Given the description of an element on the screen output the (x, y) to click on. 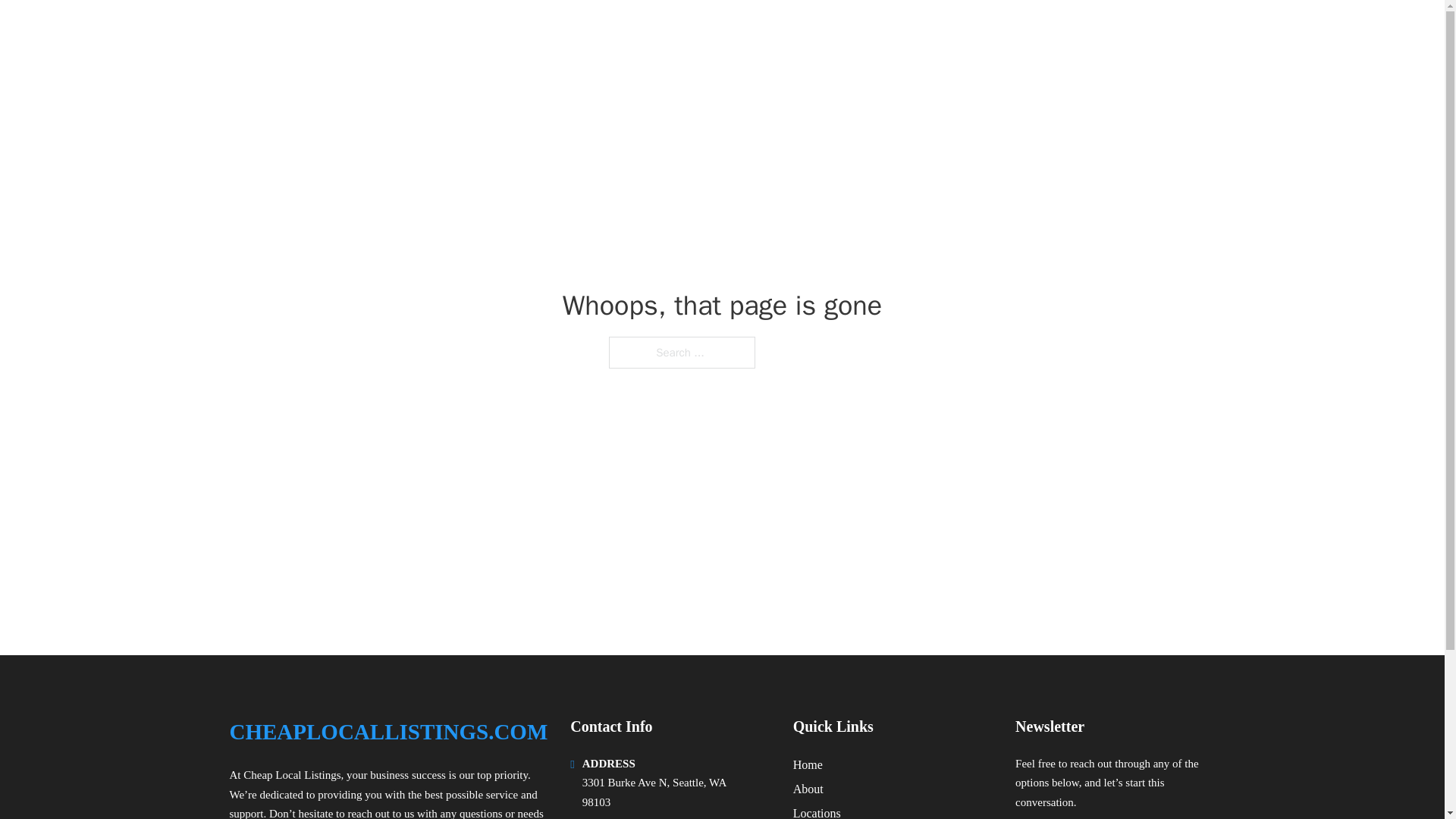
CHEAPLOCALLISTINGS.COM (403, 31)
CHEAPLOCALLISTINGS.COM (387, 732)
About (808, 788)
LOCATIONS (1098, 31)
Home (807, 764)
Locations (817, 811)
HOME (1025, 31)
